Given the description of an element on the screen output the (x, y) to click on. 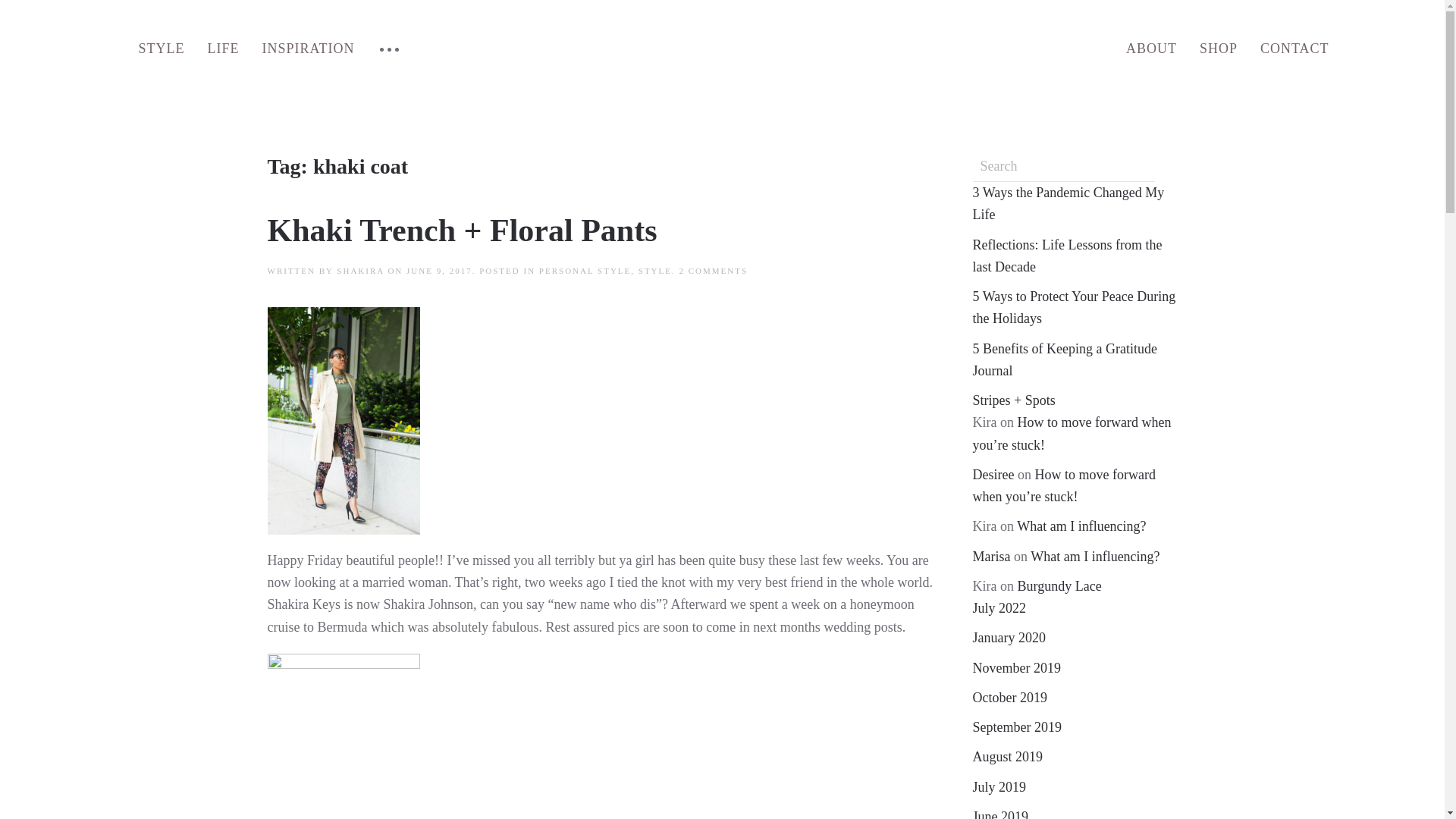
September 2019 (1016, 726)
5 Ways to Protect Your Peace During the Holidays (1073, 307)
Reflections: Life Lessons from the last Decade (1066, 254)
2 COMMENTS (713, 270)
CONTACT (1294, 49)
SHAKIRA (360, 270)
5 Benefits of Keeping a Gratitude Journal (1064, 359)
Burgundy Lace (1058, 585)
Desiree (992, 474)
November 2019 (1015, 667)
